Given the description of an element on the screen output the (x, y) to click on. 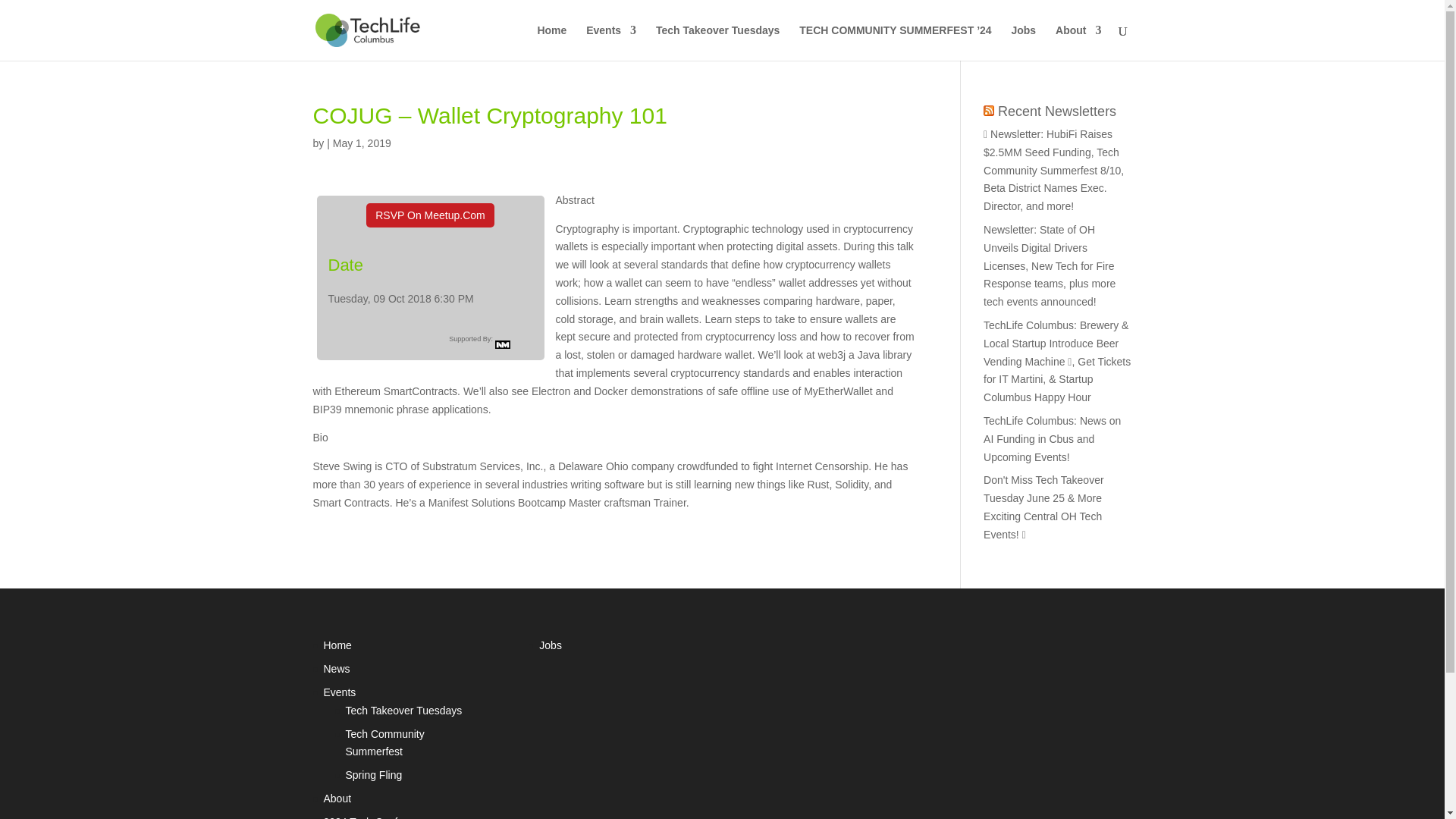
Recent Newsletters (1056, 111)
Tech Takeover Tuesdays (717, 42)
Home (336, 645)
News (336, 668)
About (1077, 42)
RSVP On Meetup.Com (429, 215)
Events (611, 42)
